Given the description of an element on the screen output the (x, y) to click on. 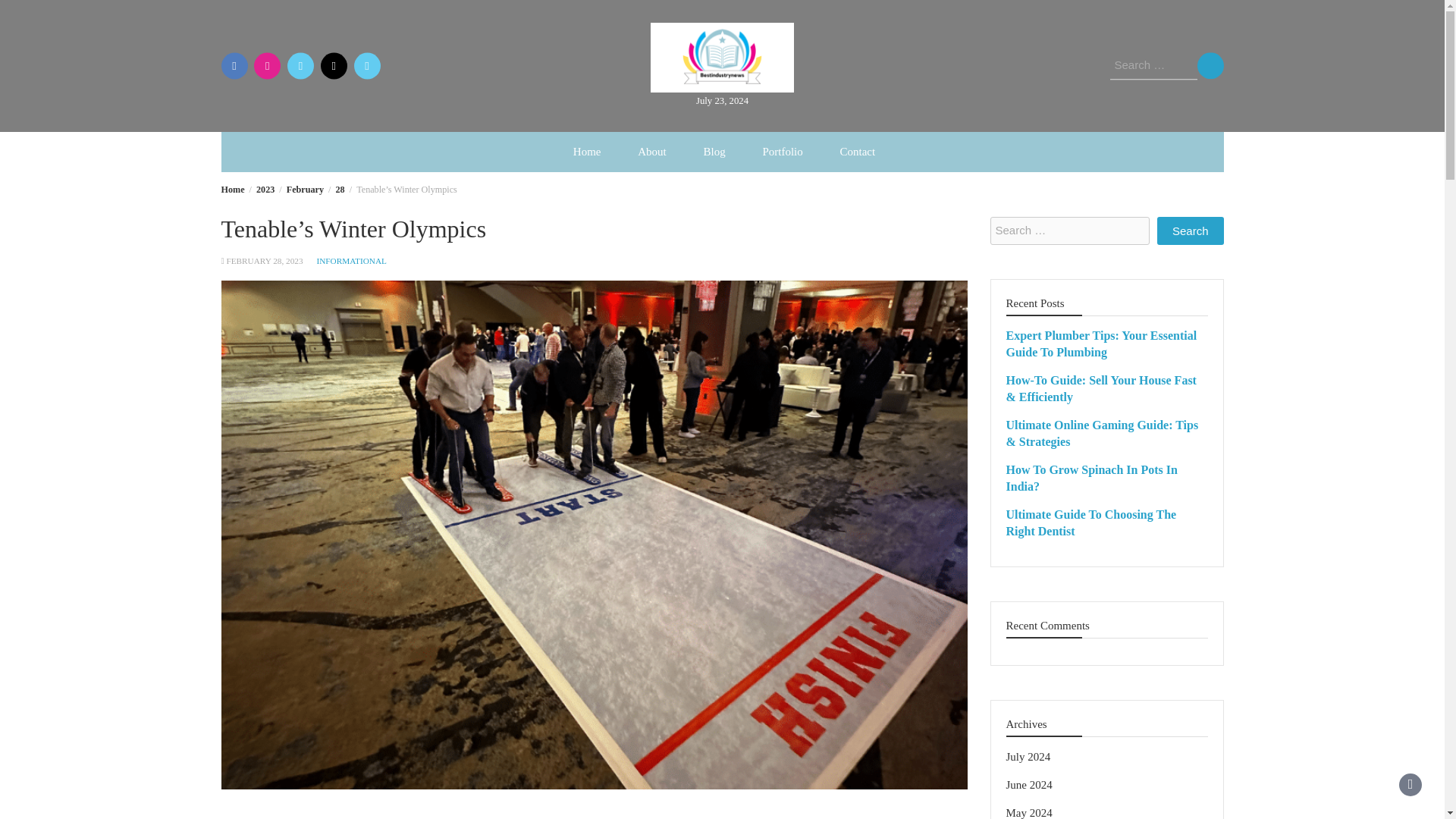
Home (232, 189)
Contact (858, 151)
Portfolio (781, 151)
Search (1190, 230)
Search for: (1070, 230)
About (652, 151)
Search (1209, 65)
FEBRUARY 28, 2023 (263, 260)
INFORMATIONAL (351, 260)
Search (1209, 65)
Search (1190, 230)
February (304, 189)
2023 (265, 189)
Blog (713, 151)
Search (1209, 65)
